Given the description of an element on the screen output the (x, y) to click on. 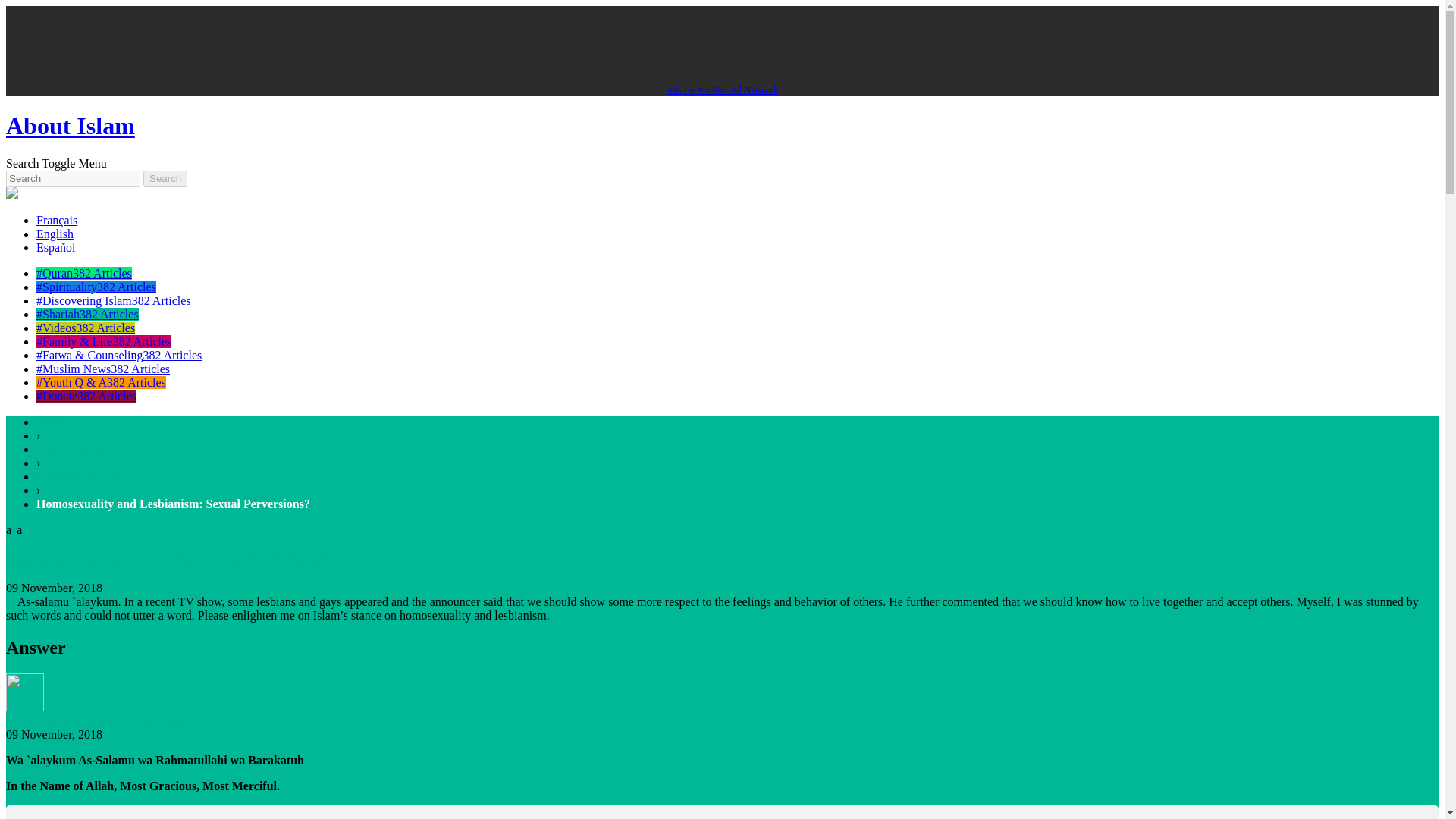
Advertise and Market to Muslims (721, 89)
Sheikh Muhammad Saleh Al-Munajjid (99, 720)
Ads by Muslim Ad Network (721, 89)
Toggle Menu (74, 163)
Search (164, 178)
Home (50, 421)
English (55, 233)
Search (22, 163)
About Islam (70, 125)
Search (164, 178)
Homosexuality and Lesbianism: Sexual Perversions? (173, 503)
Ask the Scholar (74, 449)
About Islam (70, 125)
Home (50, 421)
